Given the description of an element on the screen output the (x, y) to click on. 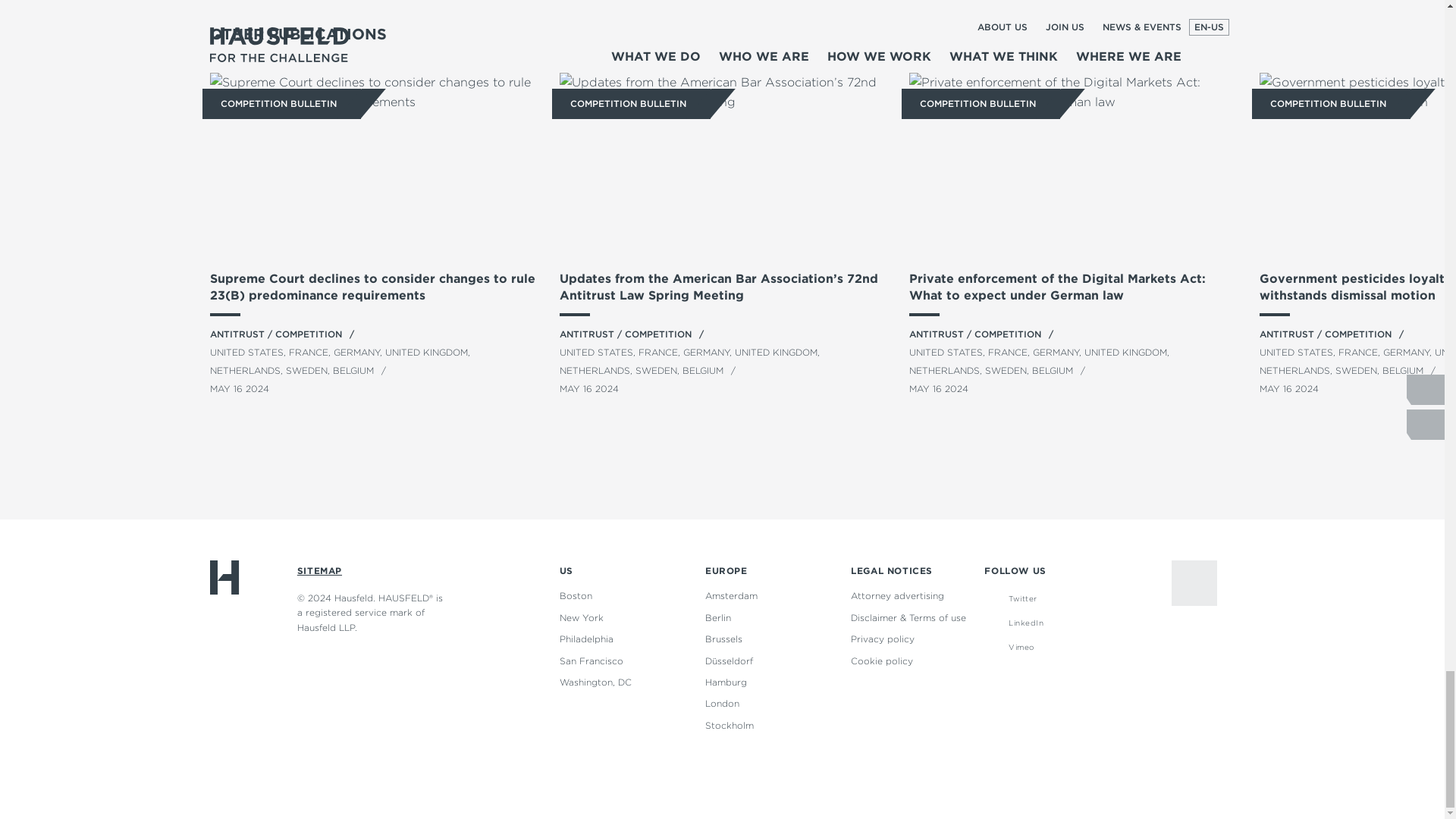
Twitter (1014, 598)
Sitemap (319, 570)
Scroll to top (1194, 583)
Logo - small (223, 577)
Open in new tab  (1014, 622)
